Given the description of an element on the screen output the (x, y) to click on. 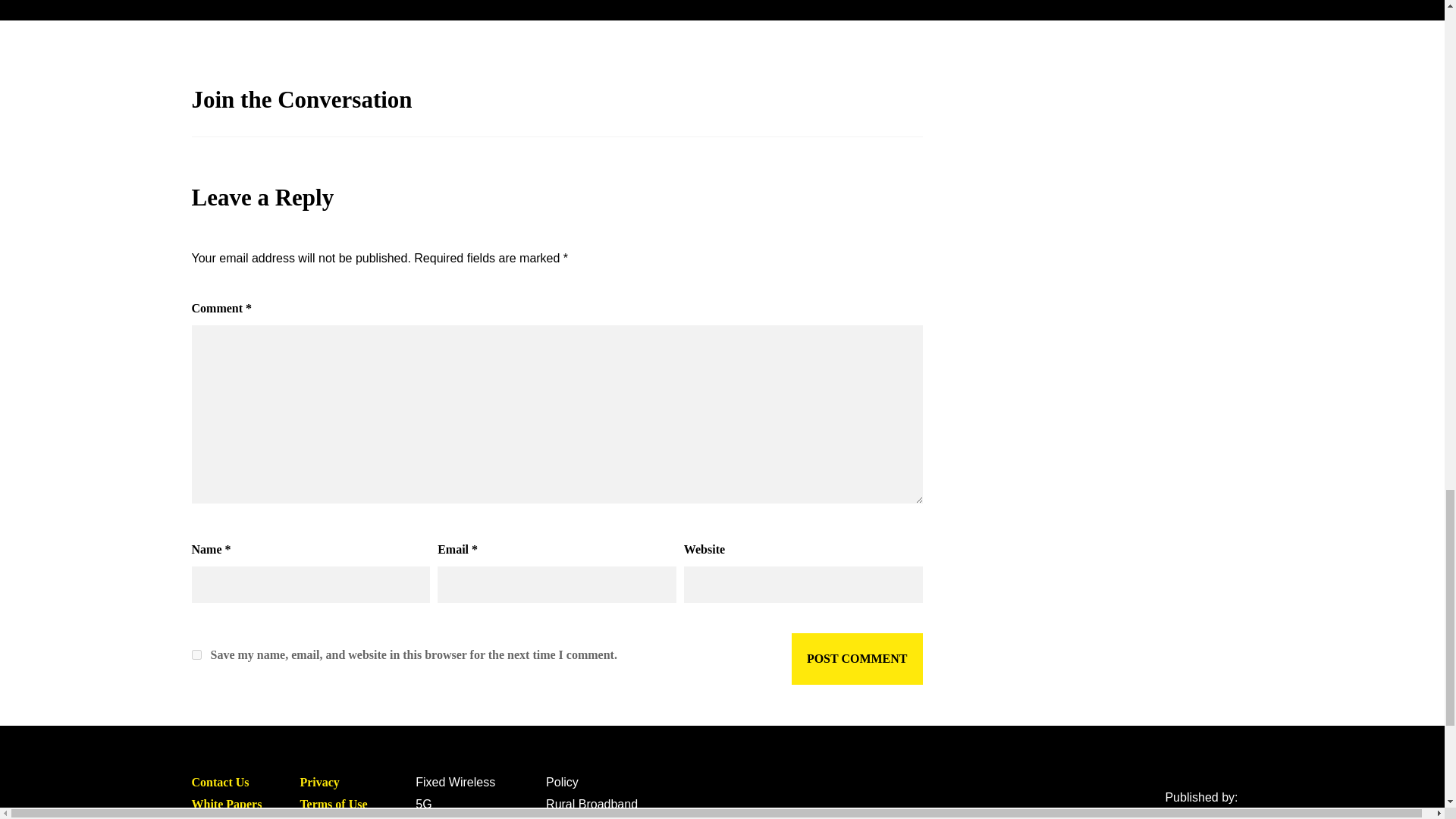
yes (195, 655)
Post Comment (857, 658)
